Given the description of an element on the screen output the (x, y) to click on. 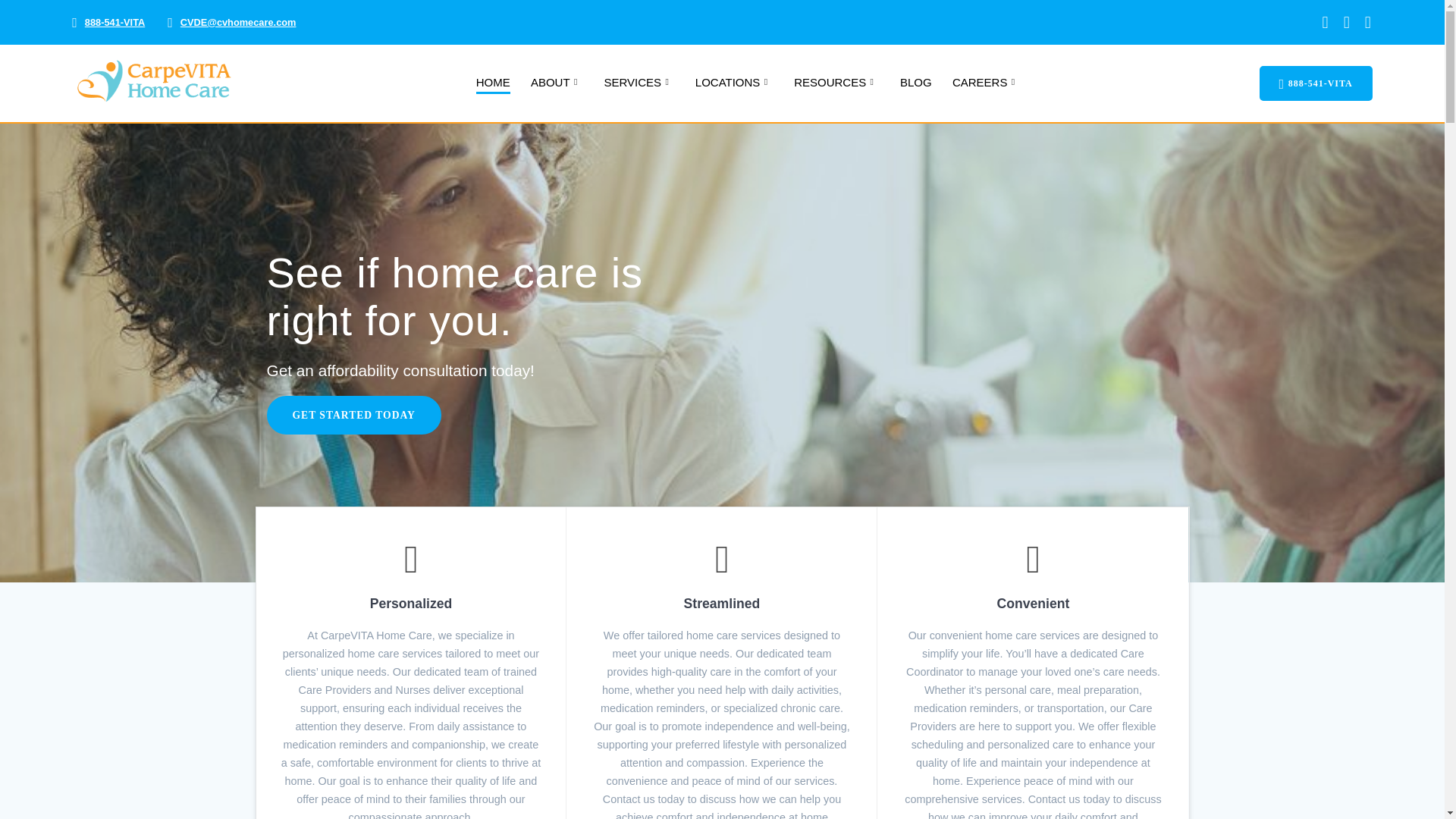
LOCATIONS (734, 83)
SERVICES (639, 83)
HOME (493, 83)
ABOUT (557, 83)
RESOURCES (836, 83)
888-541-VITA (114, 21)
BLOG (915, 83)
CAREERS (986, 83)
